Given the description of an element on the screen output the (x, y) to click on. 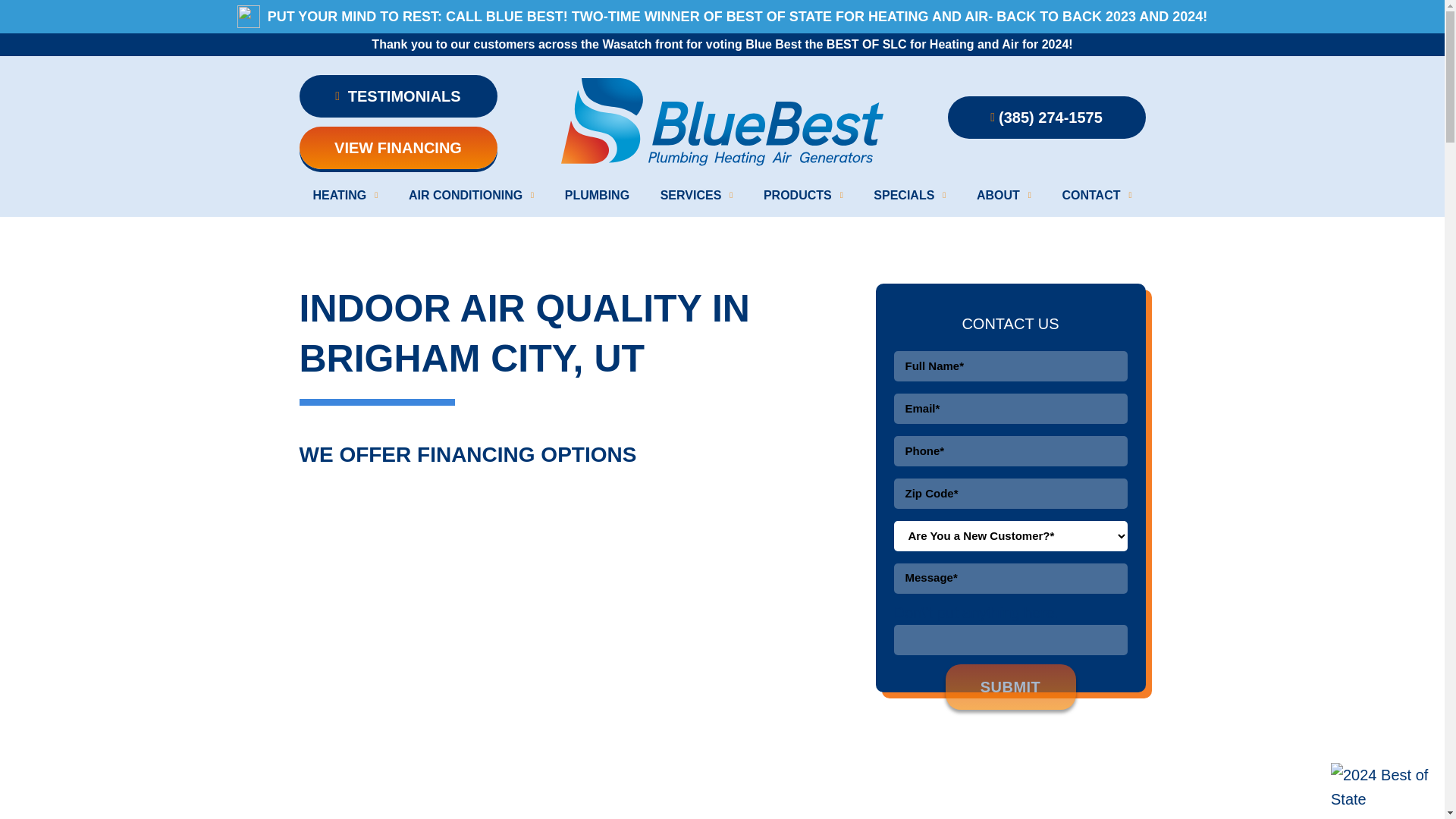
Submit (1009, 687)
Blue Best Plumbing, Heating, Air, Generators (722, 122)
